Given the description of an element on the screen output the (x, y) to click on. 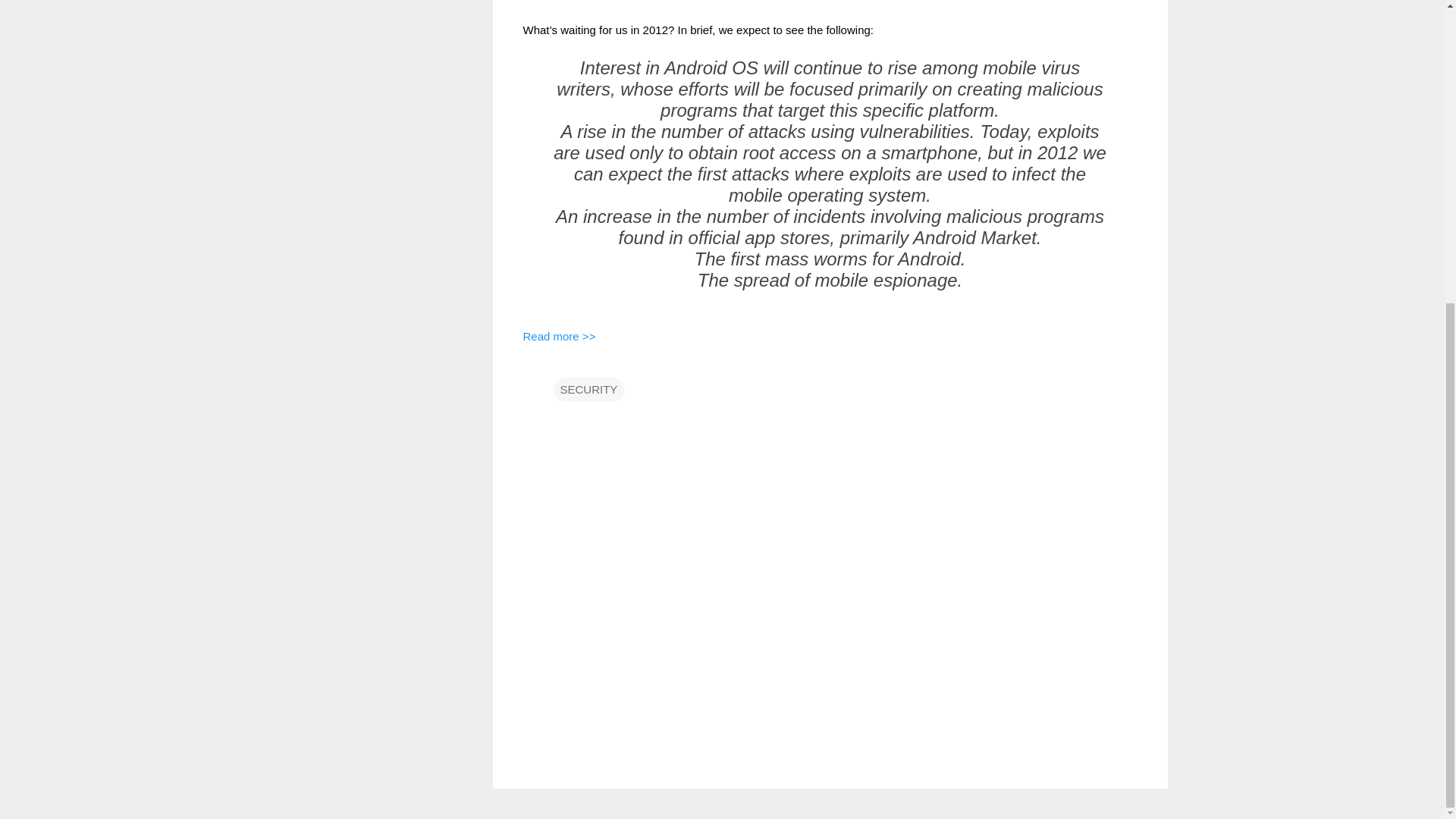
SECURITY (588, 389)
